Given the description of an element on the screen output the (x, y) to click on. 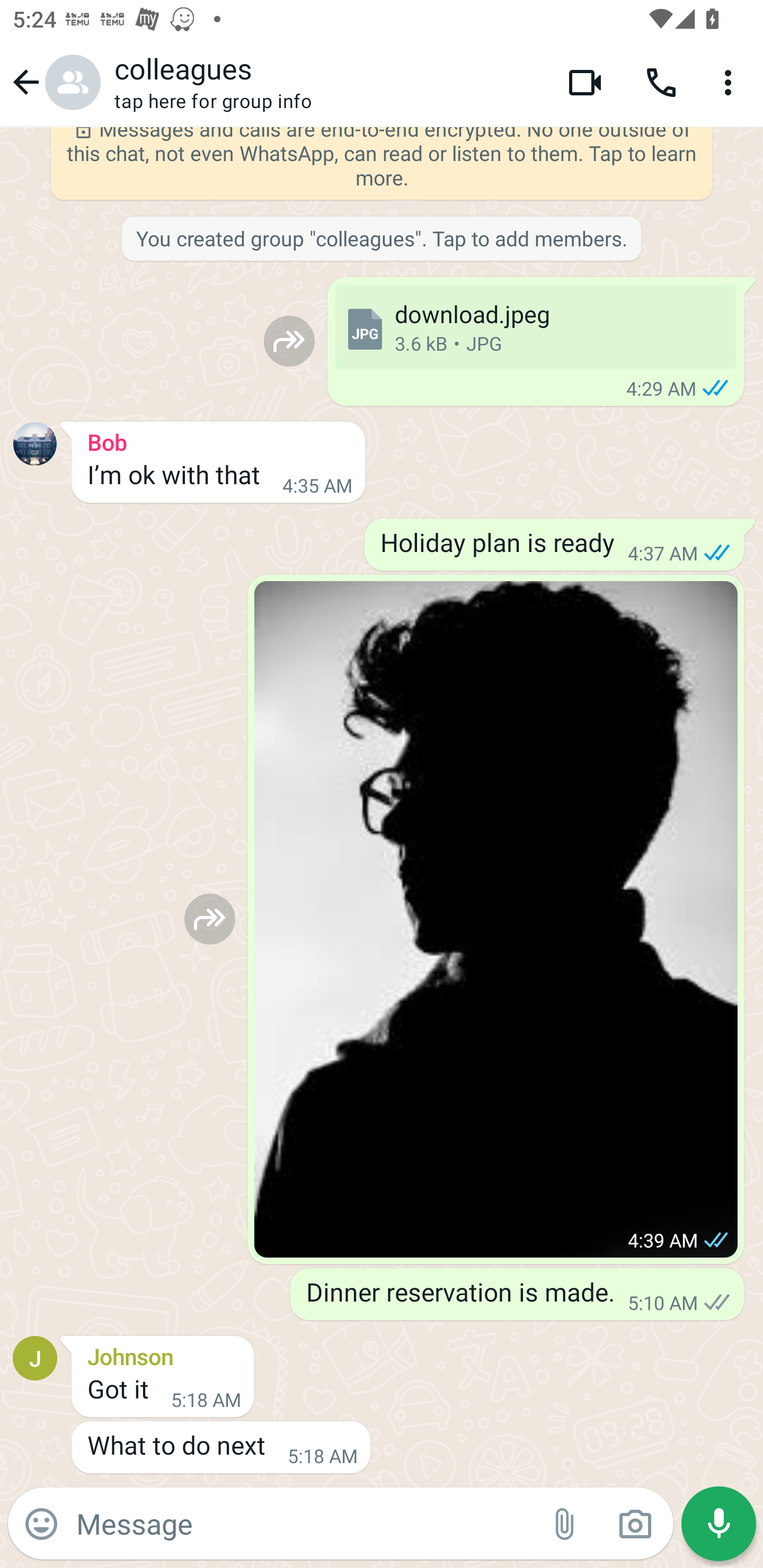
colleagues tap here for group info (327, 82)
Navigate up (54, 82)
Video call (585, 81)
Voice call (661, 81)
More options (731, 81)
download.jpeg 3.6 kB • JPG (535, 326)
Forward to… (288, 340)
Profile picture for Bob (34, 443)
Bob (217, 439)
View photo (495, 919)
Forward to… (209, 918)
Profile picture for Johnson J (34, 1357)
Johnson (162, 1353)
Emoji (41, 1523)
Attach (565, 1523)
Camera (634, 1523)
Message (303, 1523)
